Given the description of an element on the screen output the (x, y) to click on. 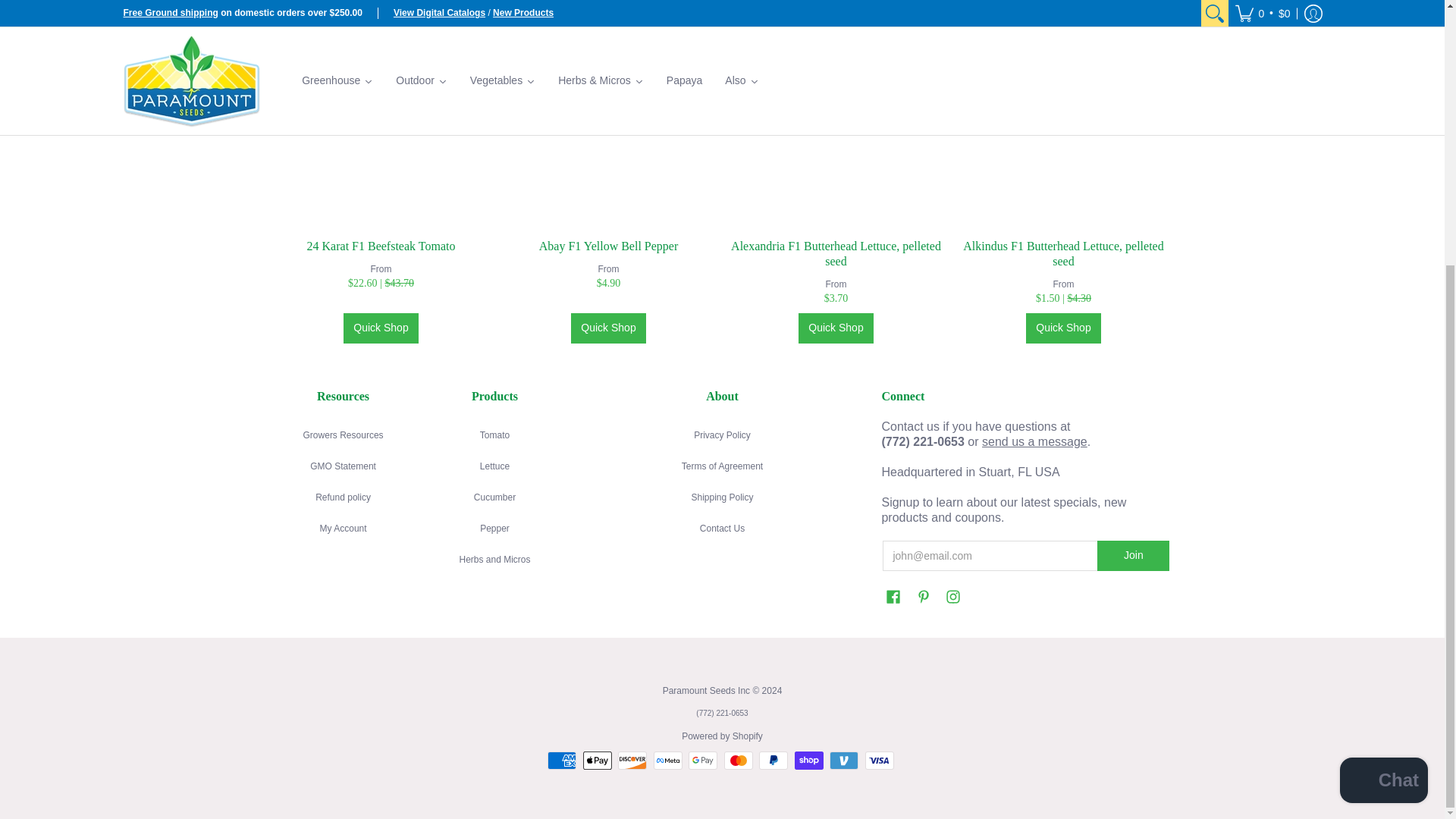
Join (1133, 555)
Apple Pay (597, 760)
Mastercard (737, 760)
Venmo (844, 760)
Discover (631, 760)
Meta Pay (667, 760)
PayPal (772, 760)
Google Pay (702, 760)
Shop Pay (809, 760)
American Express (561, 760)
